Given the description of an element on the screen output the (x, y) to click on. 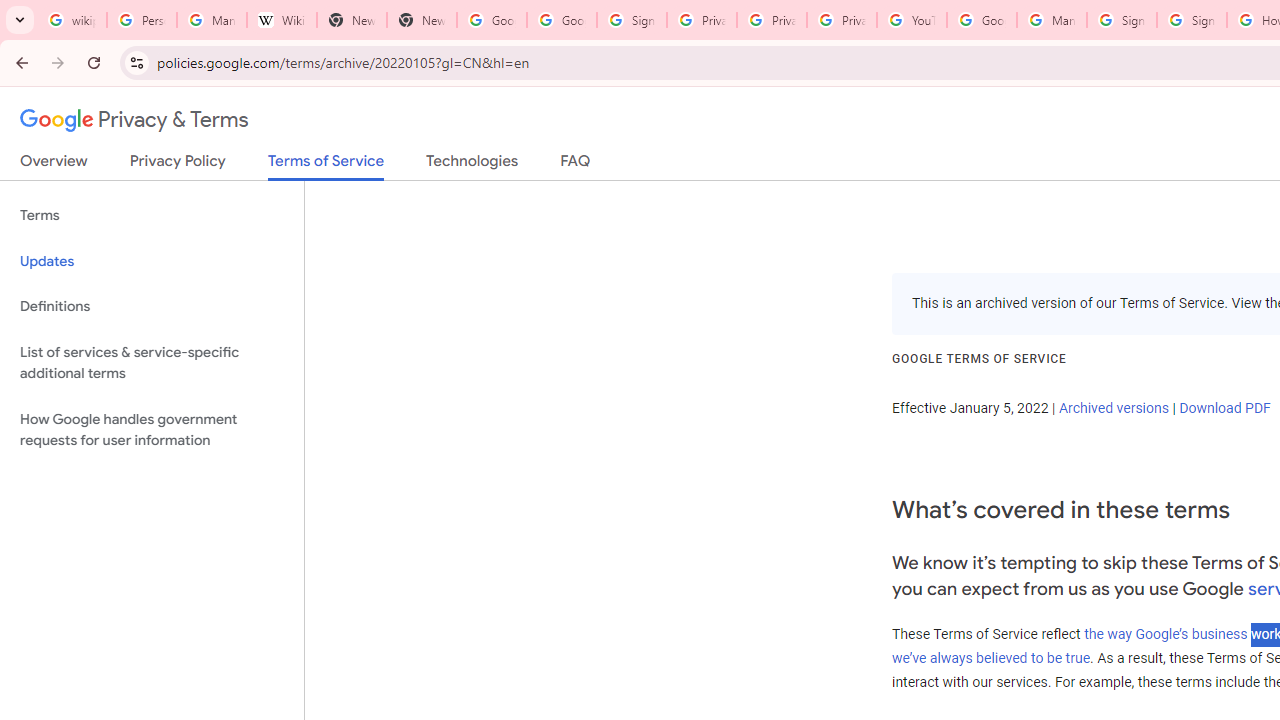
Personalization & Google Search results - Google Search Help (141, 20)
New Tab (421, 20)
Updates (152, 261)
